Given the description of an element on the screen output the (x, y) to click on. 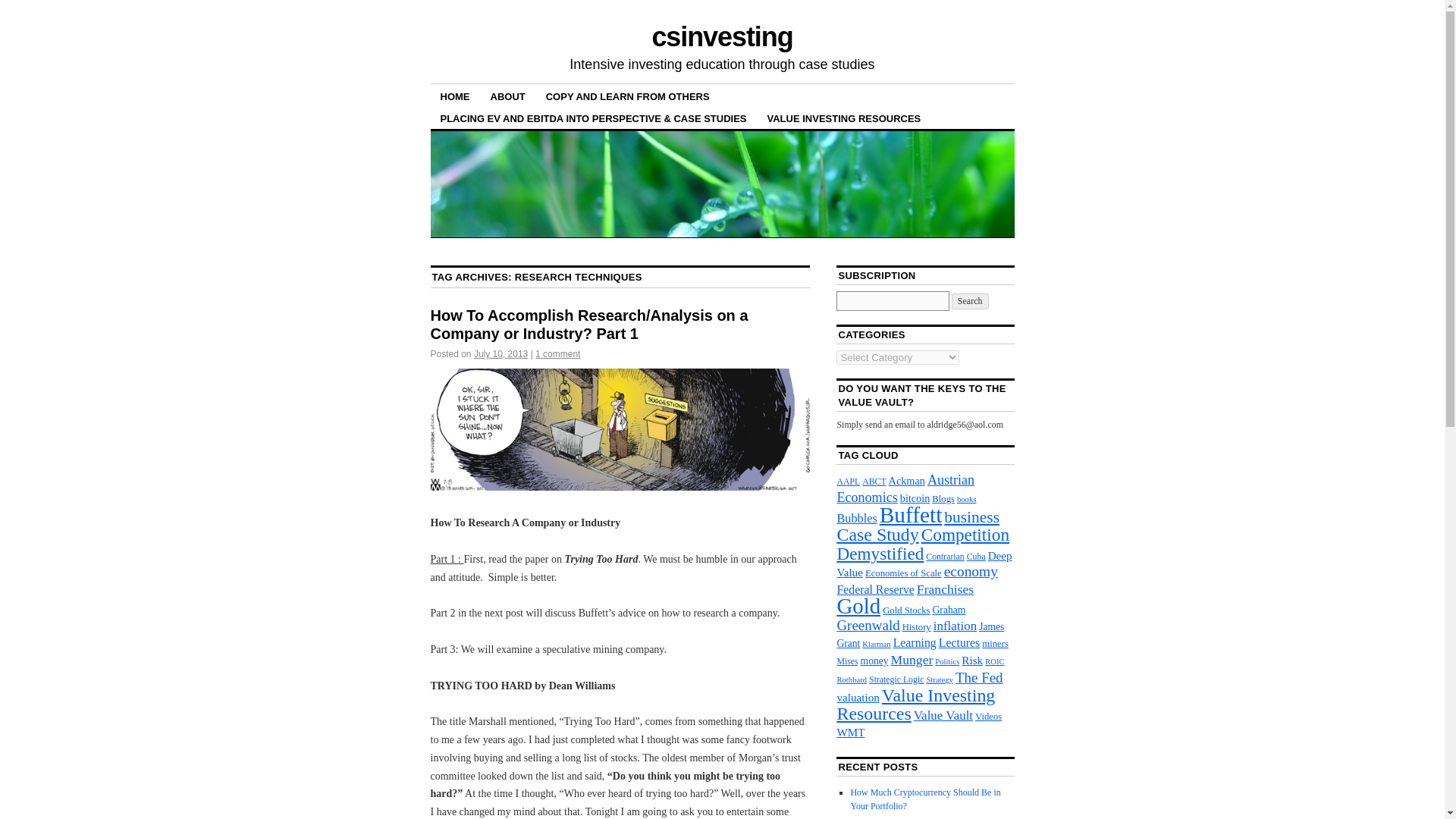
ABCT (873, 480)
Bubbles (855, 518)
Economies of Scale (903, 573)
books (965, 499)
business (970, 516)
csinvesting (721, 36)
Competition Demystified (922, 543)
Deep Value (923, 563)
July 10, 2013 (500, 353)
Blogs (943, 498)
1 comment (557, 353)
Search (970, 301)
Search (970, 301)
Buffett (910, 514)
economy (970, 571)
